Given the description of an element on the screen output the (x, y) to click on. 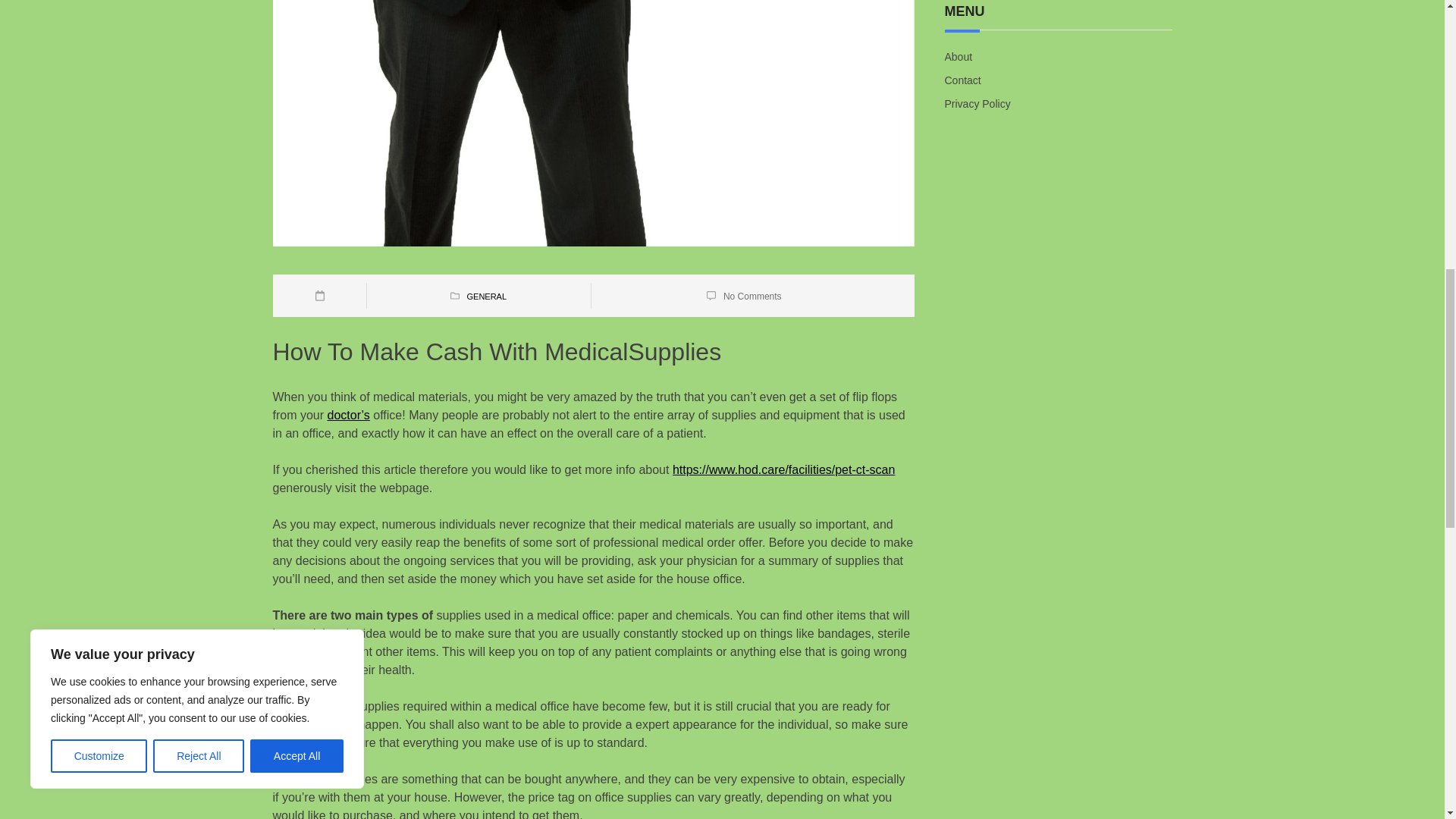
GENERAL (485, 295)
No Comments (752, 296)
